Given the description of an element on the screen output the (x, y) to click on. 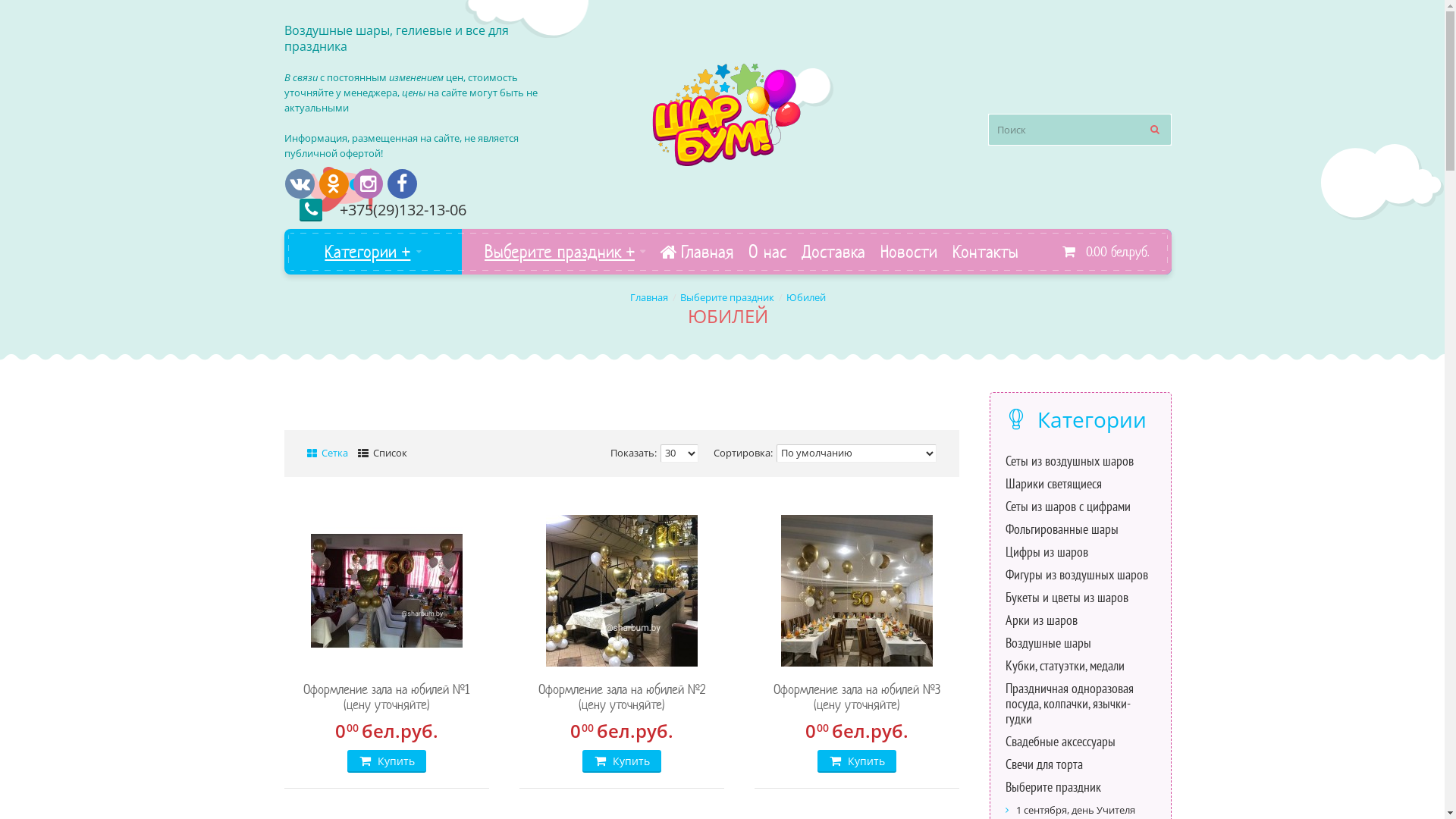
+375(29)132-13-06 Element type: text (402, 209)
